Given the description of an element on the screen output the (x, y) to click on. 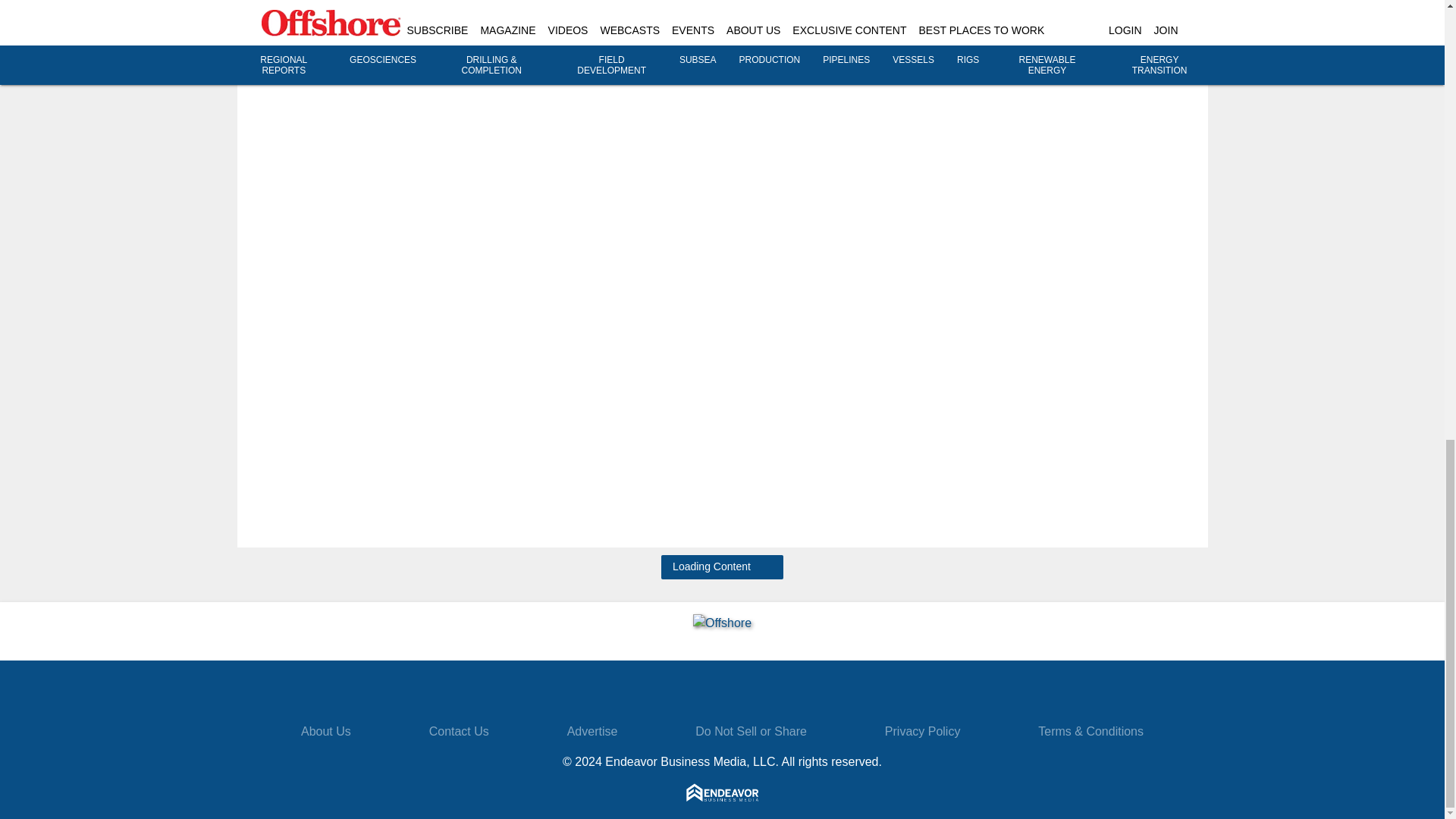
rwe secures its first offshore wind site in australia (1137, 27)
